Given the description of an element on the screen output the (x, y) to click on. 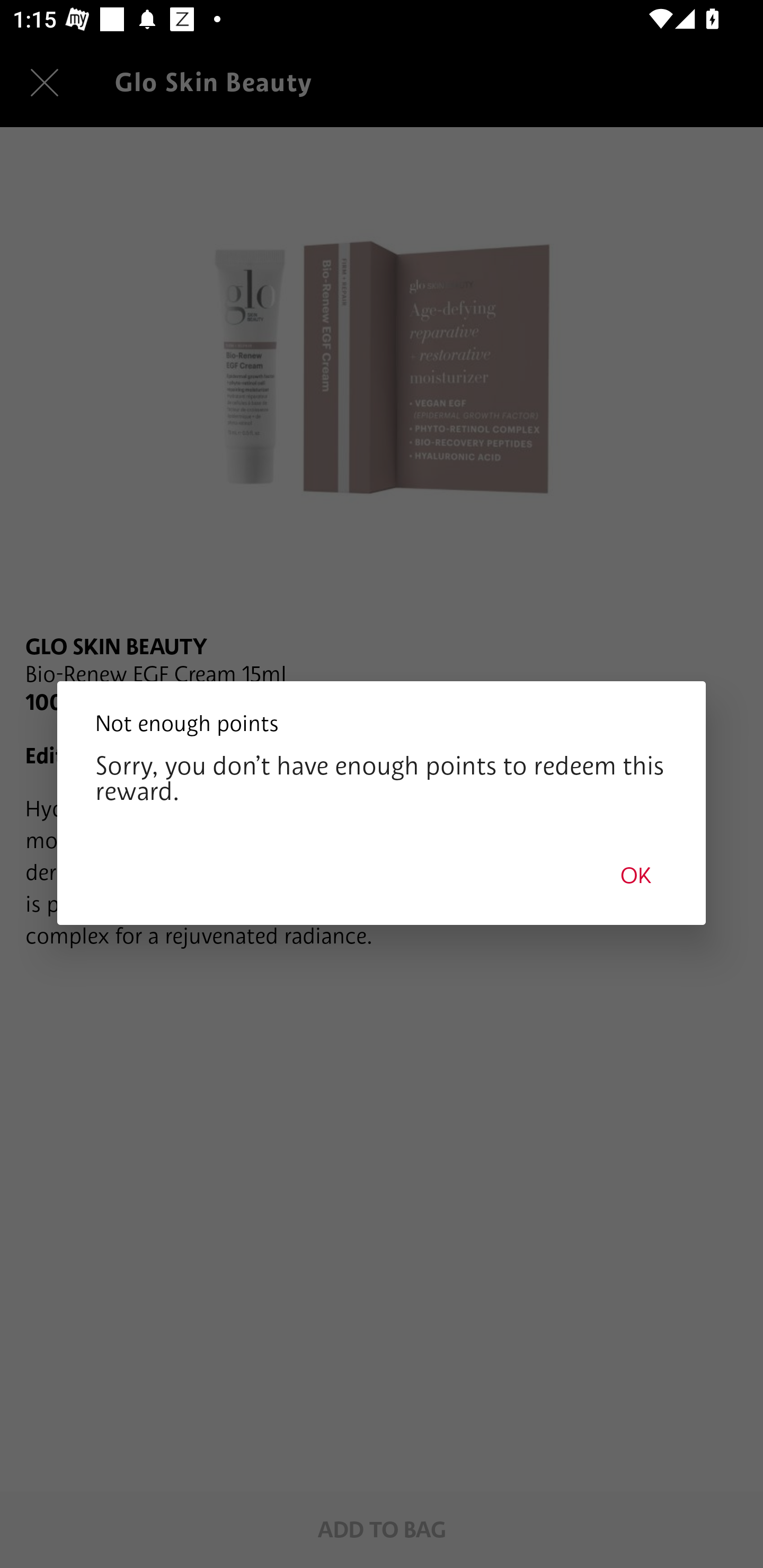
OK (635, 875)
